Given the description of an element on the screen output the (x, y) to click on. 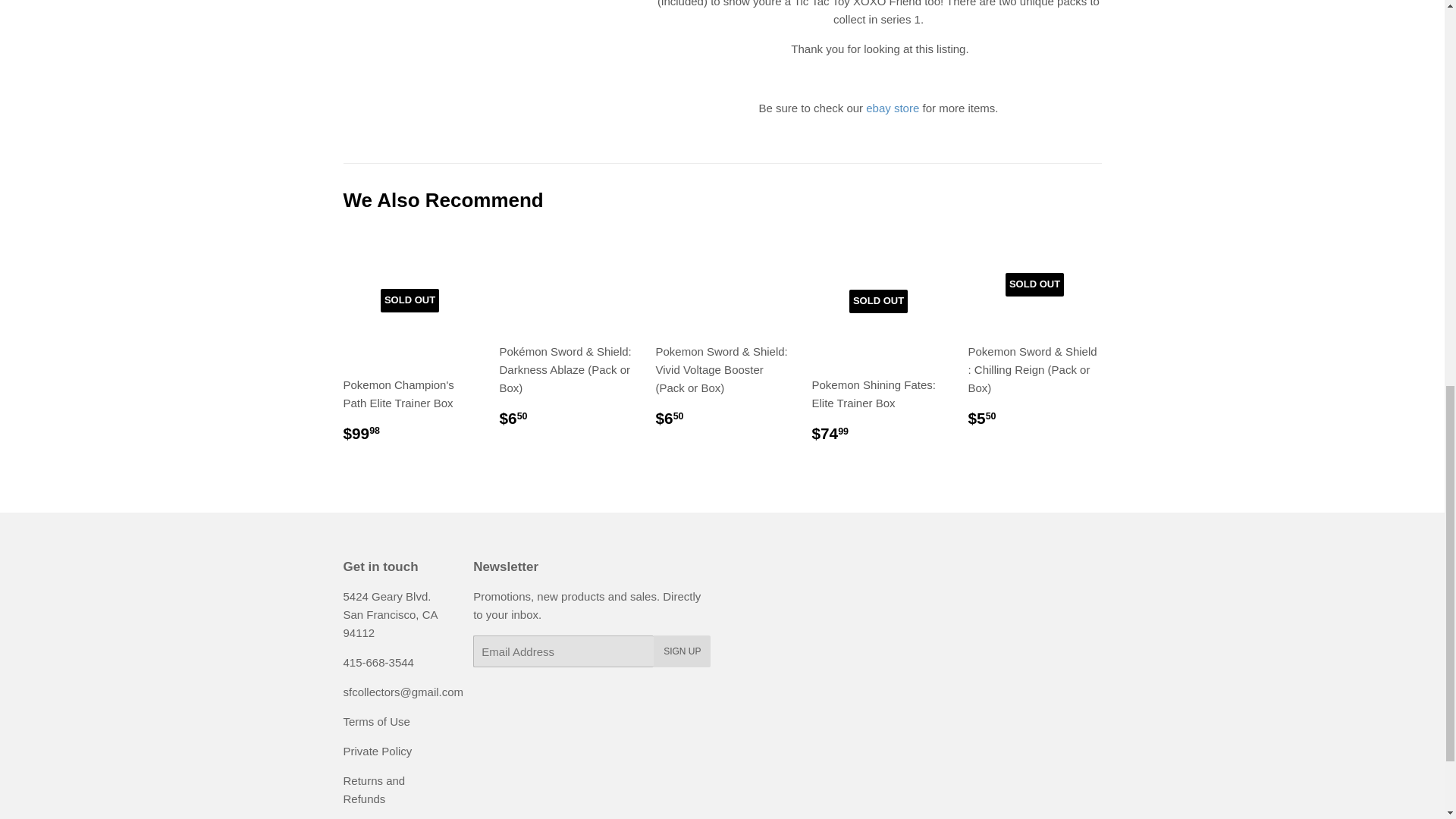
Refund Policy (373, 789)
Privacy Policy (377, 750)
Terms of Service (375, 721)
